Given the description of an element on the screen output the (x, y) to click on. 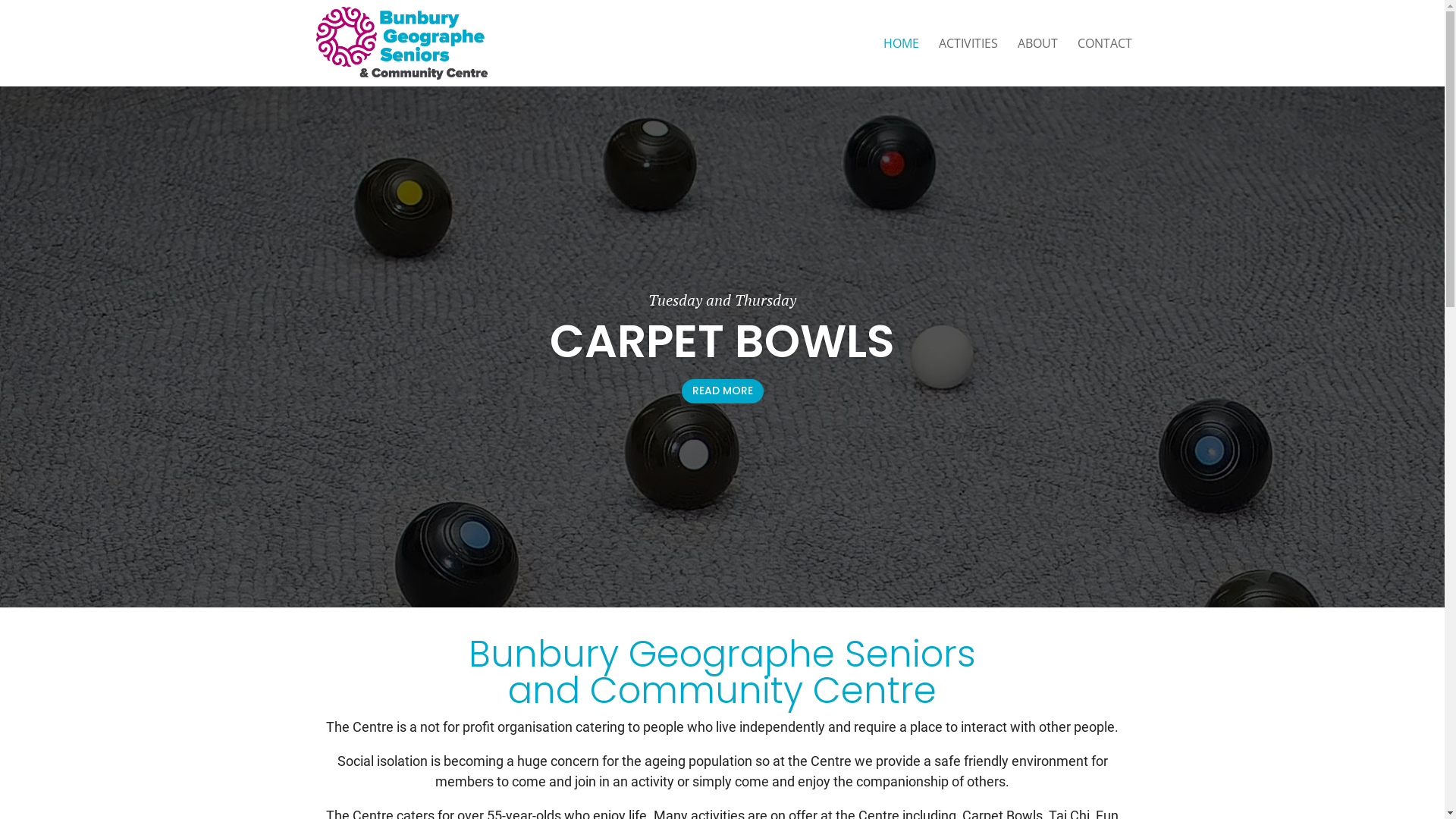
Tuesday and Thursday Element type: text (722, 352)
ACTIVITIES Element type: text (967, 61)
READ MORE Element type: text (721, 442)
HOME Element type: text (900, 61)
CONTACT Element type: text (1103, 61)
ABOUT Element type: text (1037, 61)
